Given the description of an element on the screen output the (x, y) to click on. 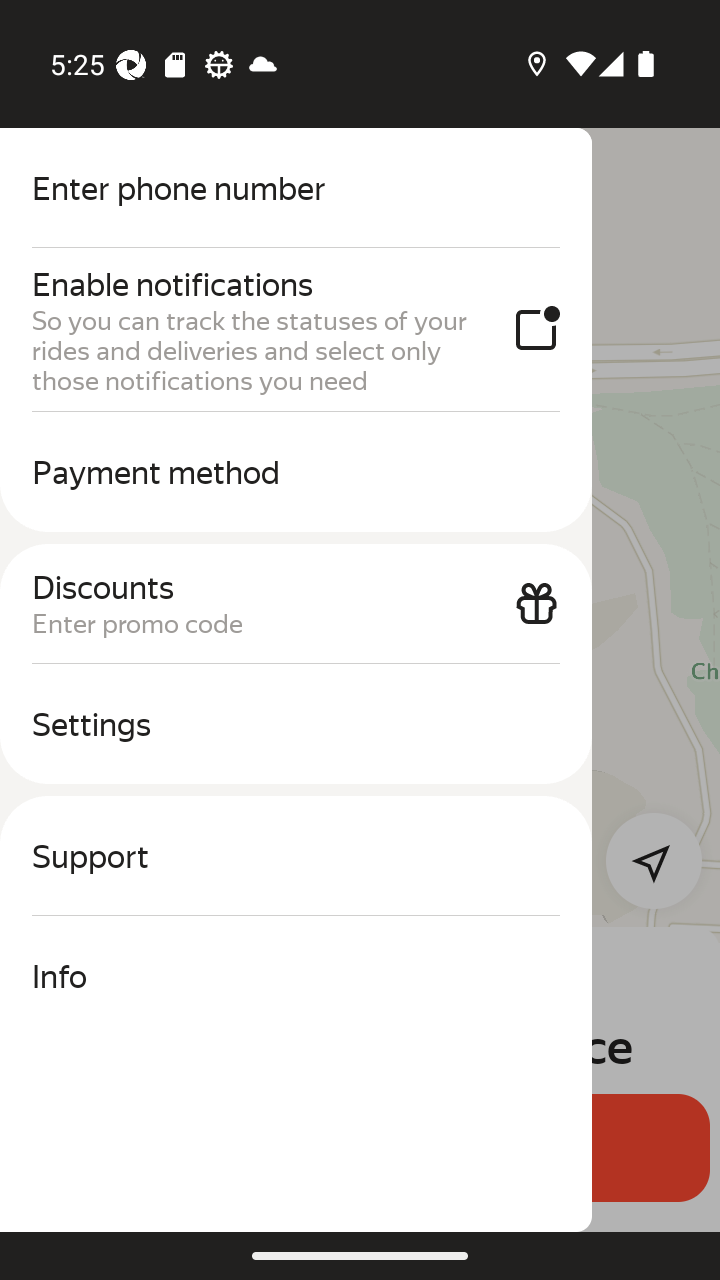
Enter phone number (295, 188)
Payment method (295, 472)
Settings (295, 723)
Support (295, 856)
Info (295, 975)
